Given the description of an element on the screen output the (x, y) to click on. 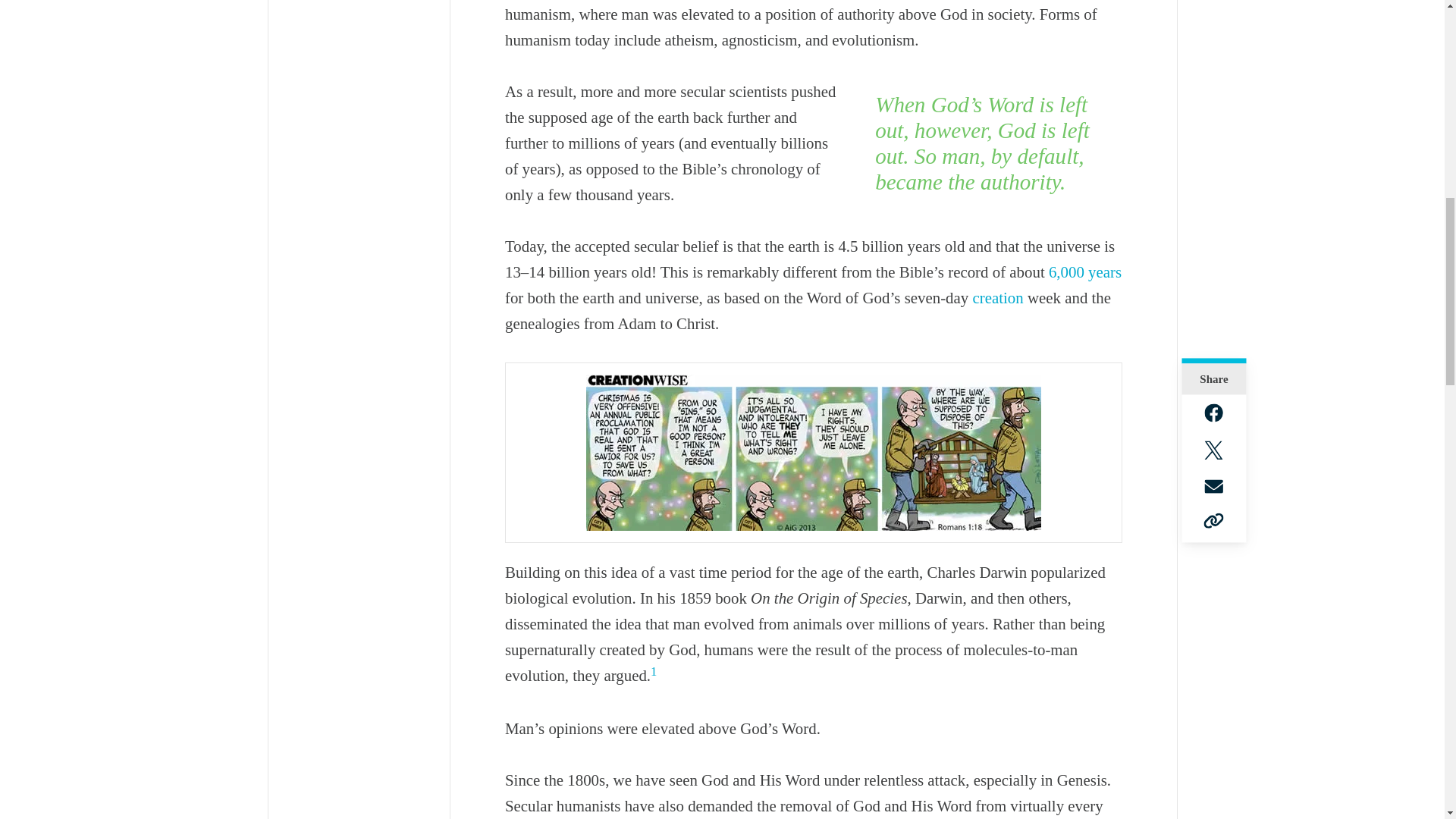
Footnote 1 (653, 671)
1 (653, 671)
